Given the description of an element on the screen output the (x, y) to click on. 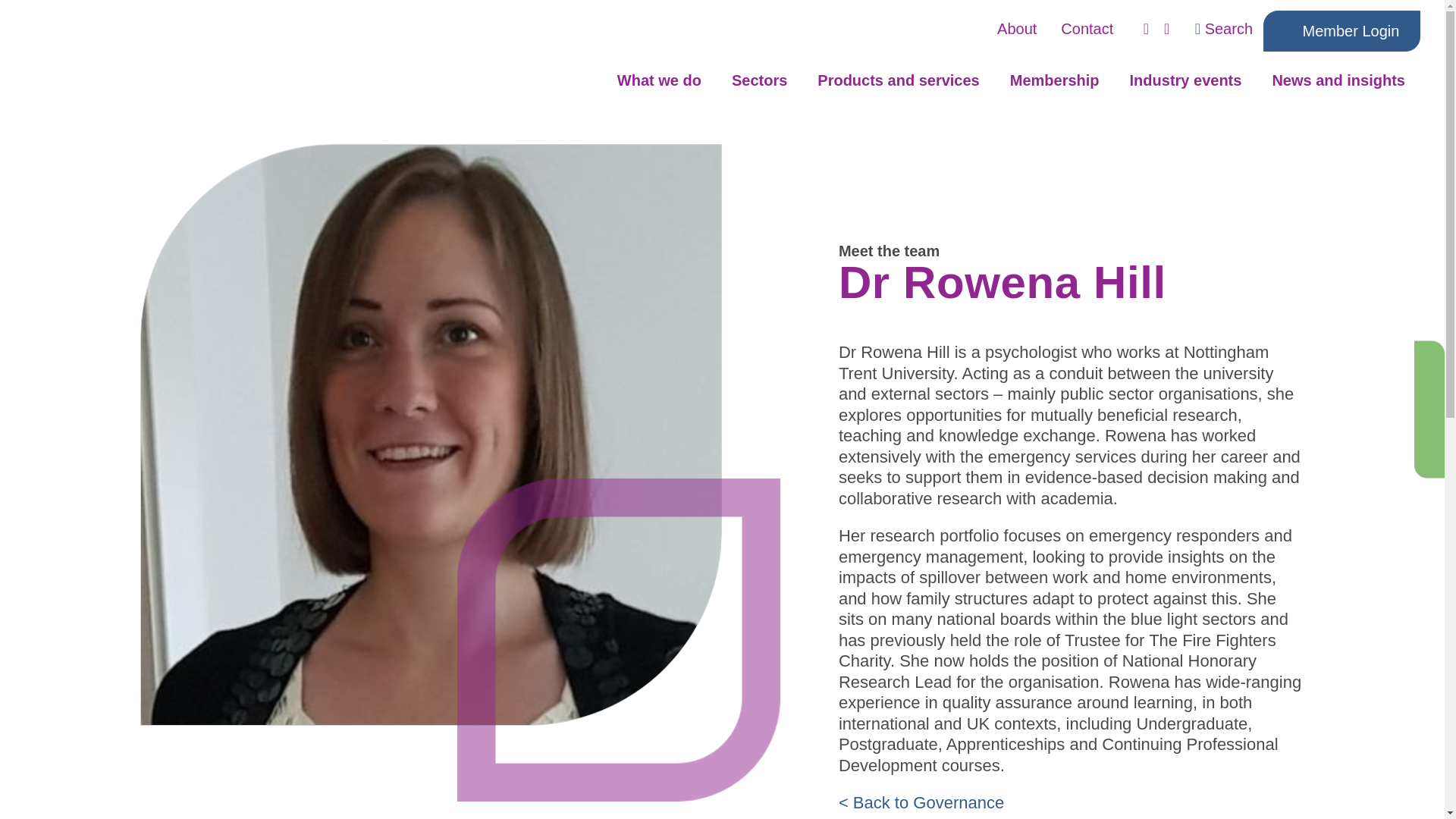
Member Login (1342, 30)
Products and services (898, 89)
Skills for Justice (121, 56)
Membership (1054, 89)
Contact (1086, 29)
Skills for Justice (121, 56)
What we do (659, 89)
Sectors (759, 89)
Search (1224, 29)
About (1016, 29)
